Given the description of an element on the screen output the (x, y) to click on. 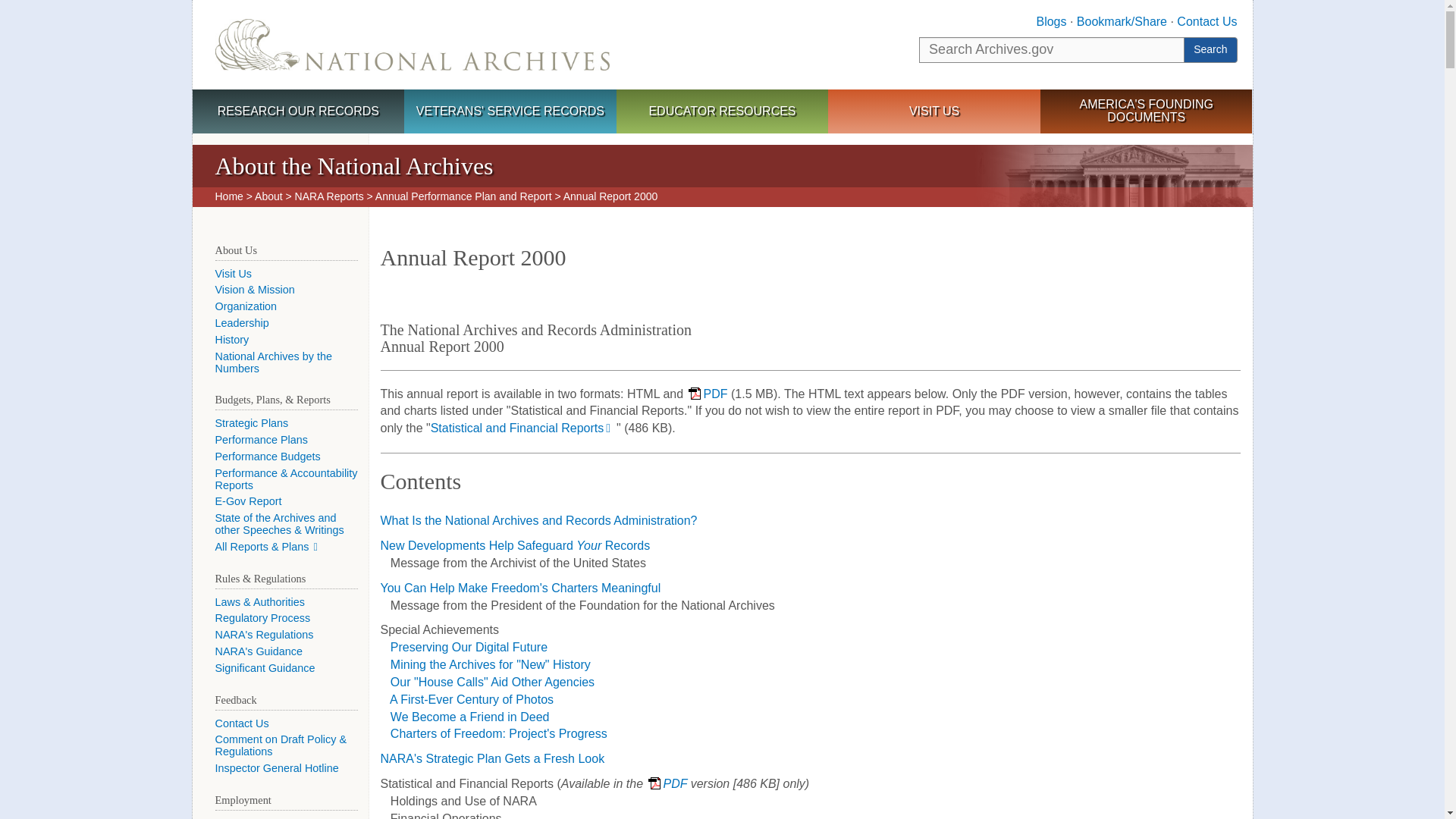
NARA's Guidance (258, 651)
RESEARCH OUR RECORDS (298, 111)
Blogs (1050, 21)
Organization (246, 306)
Inspector General Hotline (277, 767)
Performance Plans (261, 439)
Significant Guidance (265, 667)
Regulatory Process (263, 617)
